Given the description of an element on the screen output the (x, y) to click on. 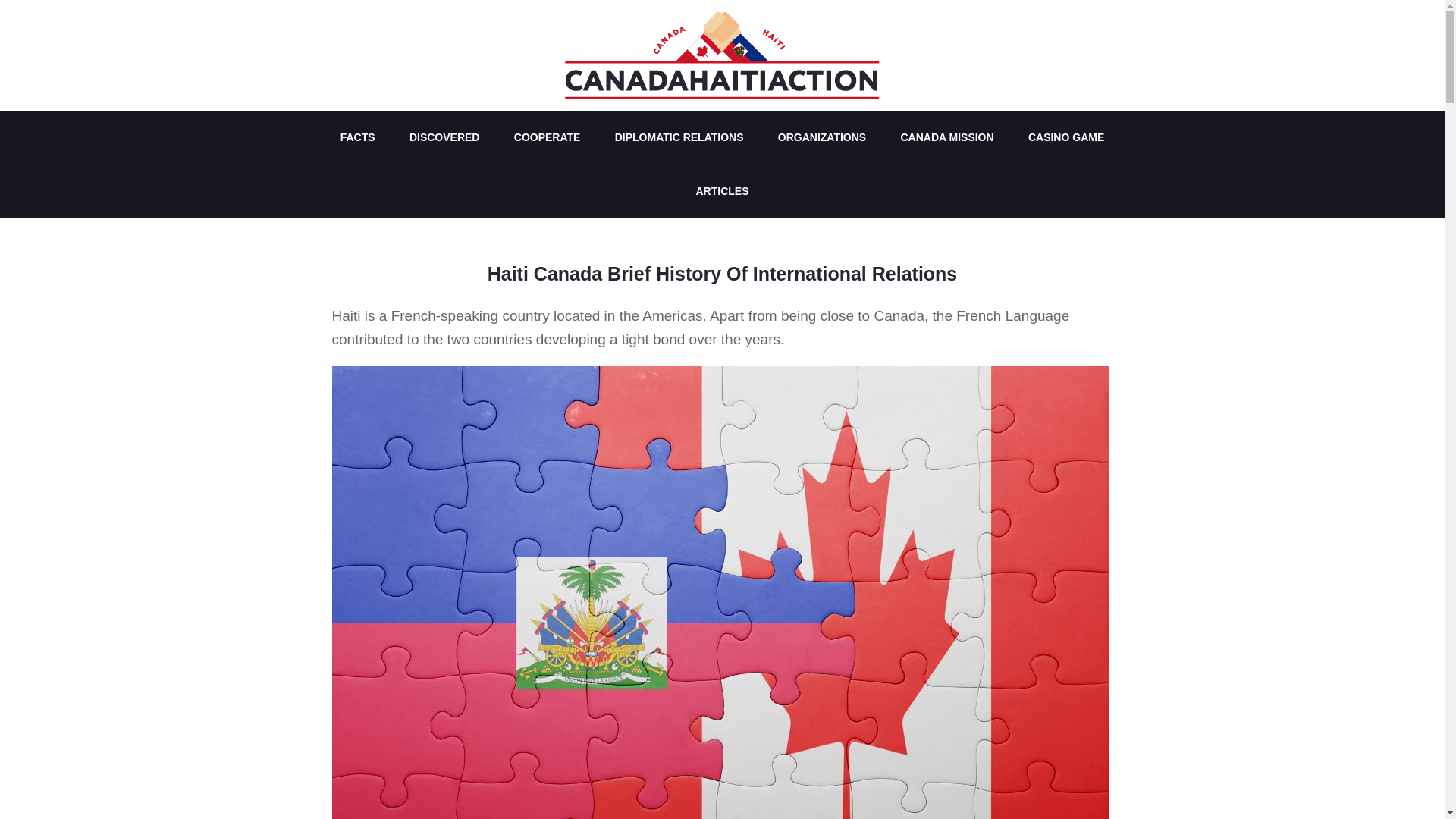
CANADA MISSION (947, 137)
CASINO GAME (1066, 137)
DIPLOMATIC RELATIONS (678, 137)
ARTICLES (722, 191)
ORGANIZATIONS (821, 137)
COOPERATE (547, 137)
FACTS (357, 137)
DISCOVERED (444, 137)
